Given the description of an element on the screen output the (x, y) to click on. 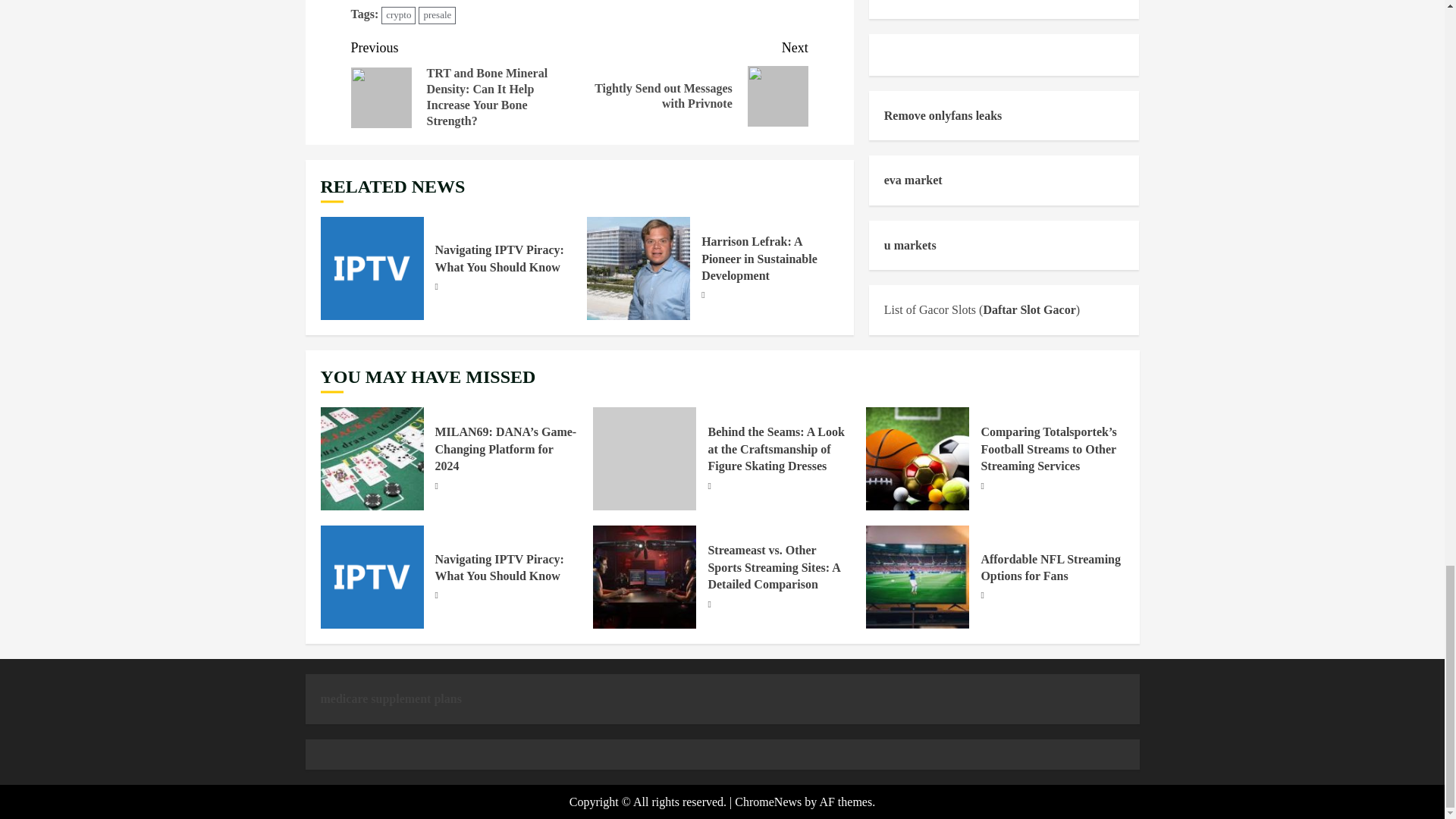
Navigating IPTV Piracy: What You Should Know (499, 258)
crypto (397, 15)
presale (437, 15)
Navigating IPTV Piracy: What You Should Know (693, 81)
Harrison Lefrak: A Pioneer in Sustainable Development (371, 268)
Harrison Lefrak: A Pioneer in Sustainable Development (638, 268)
